Given the description of an element on the screen output the (x, y) to click on. 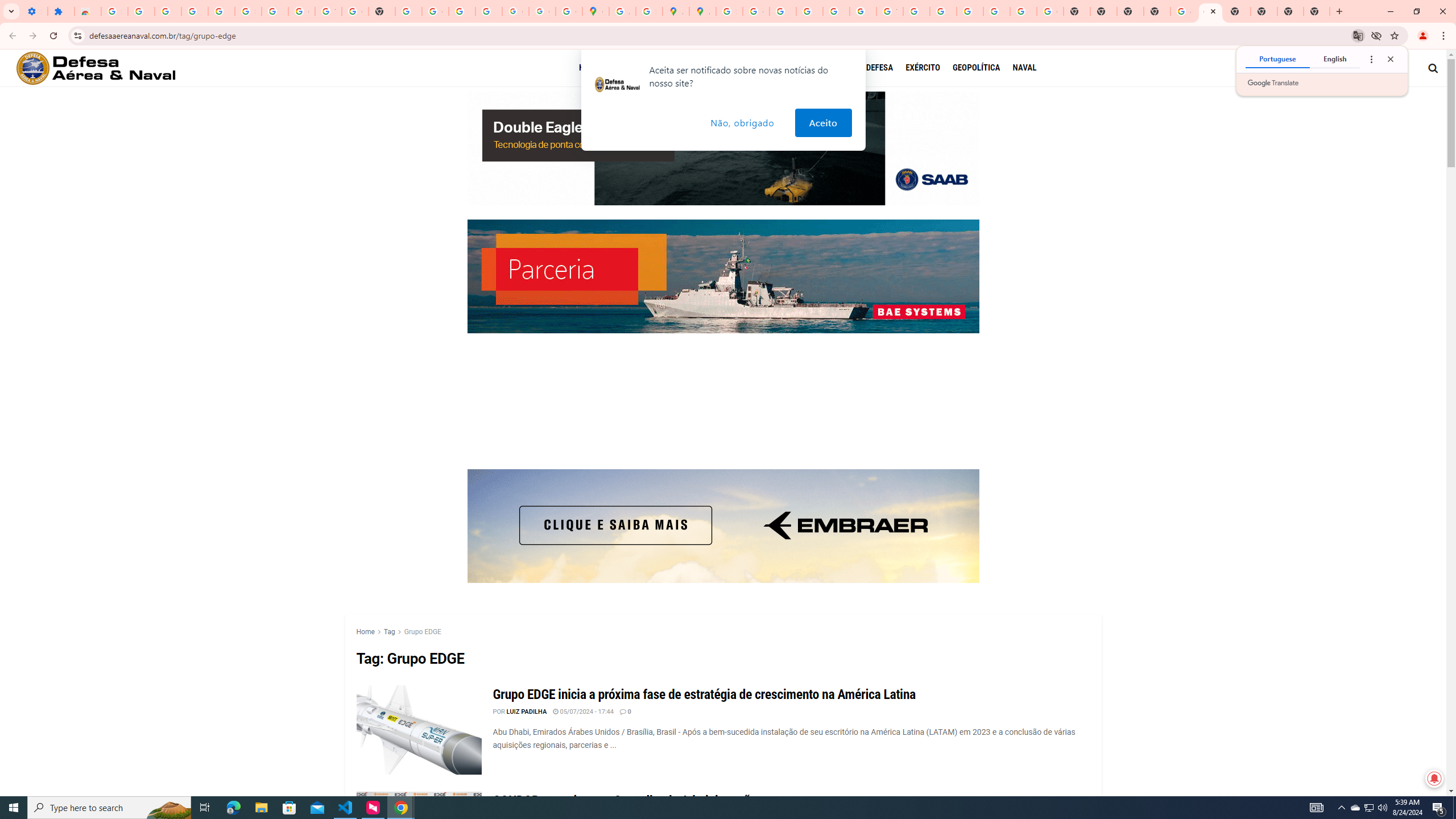
Sign in - Google Accounts (114, 11)
notification icon (617, 85)
Grupo EDGE (422, 631)
Translate this page (1358, 35)
